Given the description of an element on the screen output the (x, y) to click on. 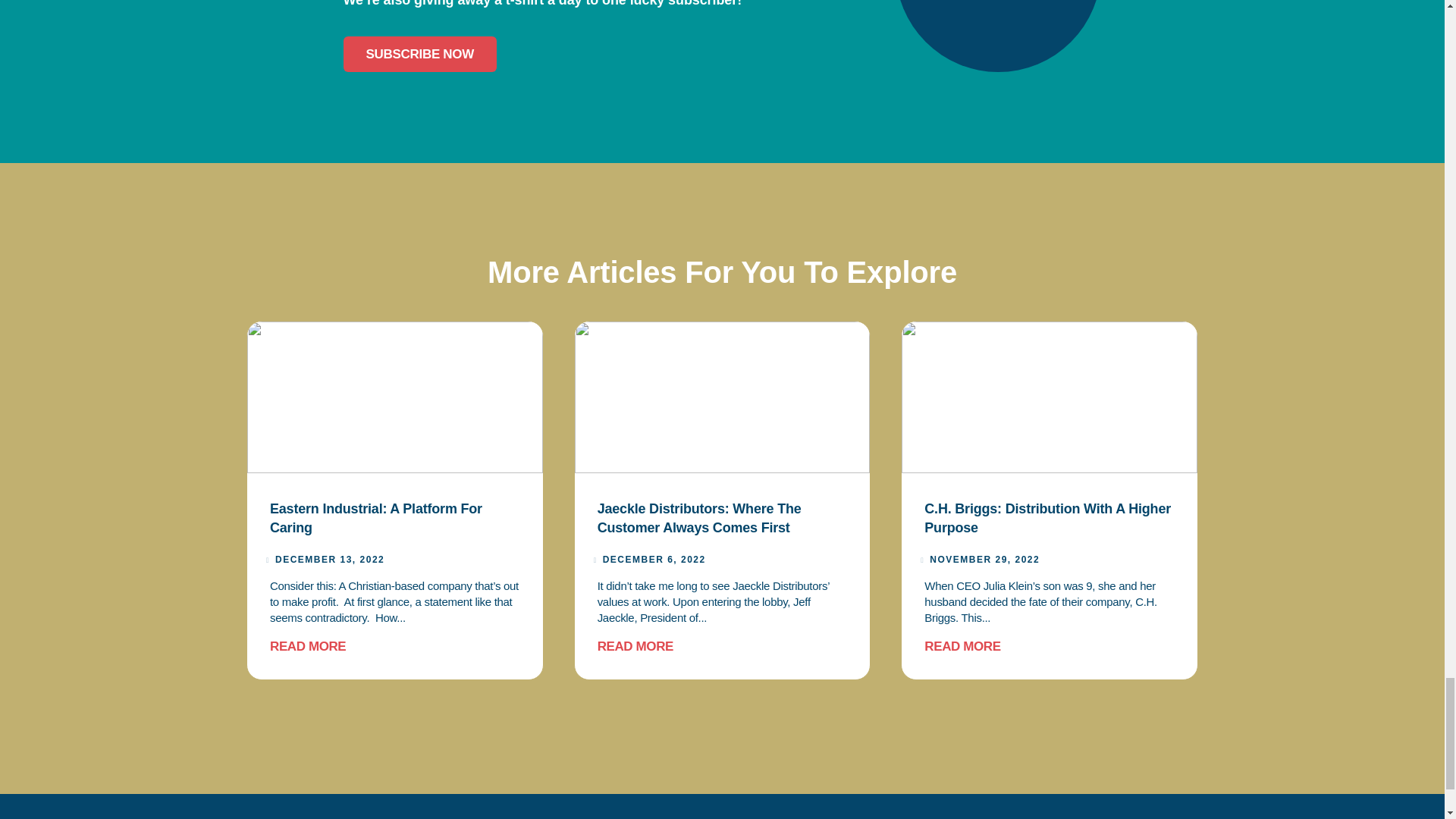
Eastern Industrial: A Platform for Caring (375, 518)
C.H. Briggs: Distribution with a Higher Purpose (1047, 518)
Jaeckle Distributors: Where the Customer Always Comes First (699, 518)
